Given the description of an element on the screen output the (x, y) to click on. 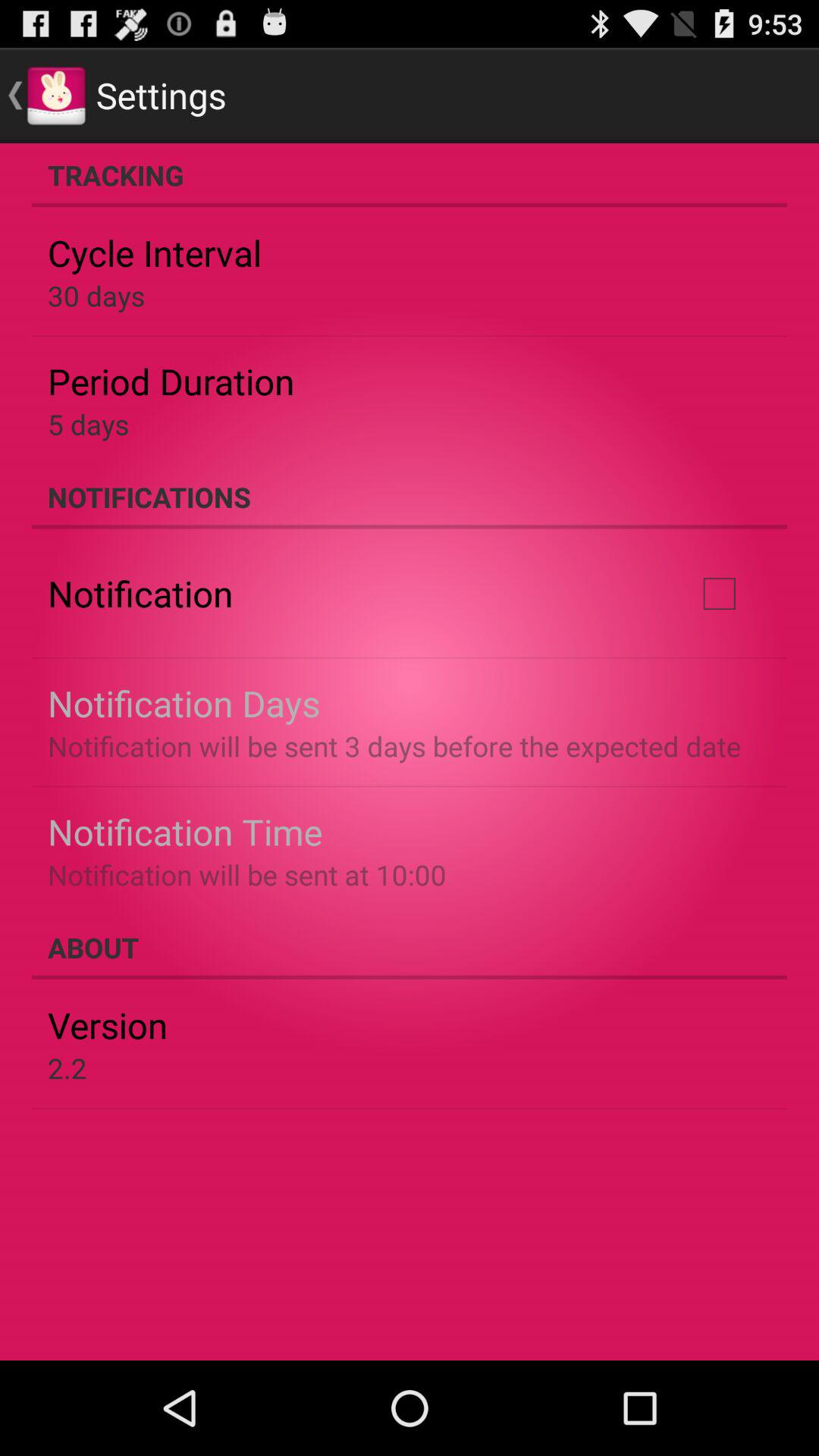
swipe to the about icon (409, 947)
